Given the description of an element on the screen output the (x, y) to click on. 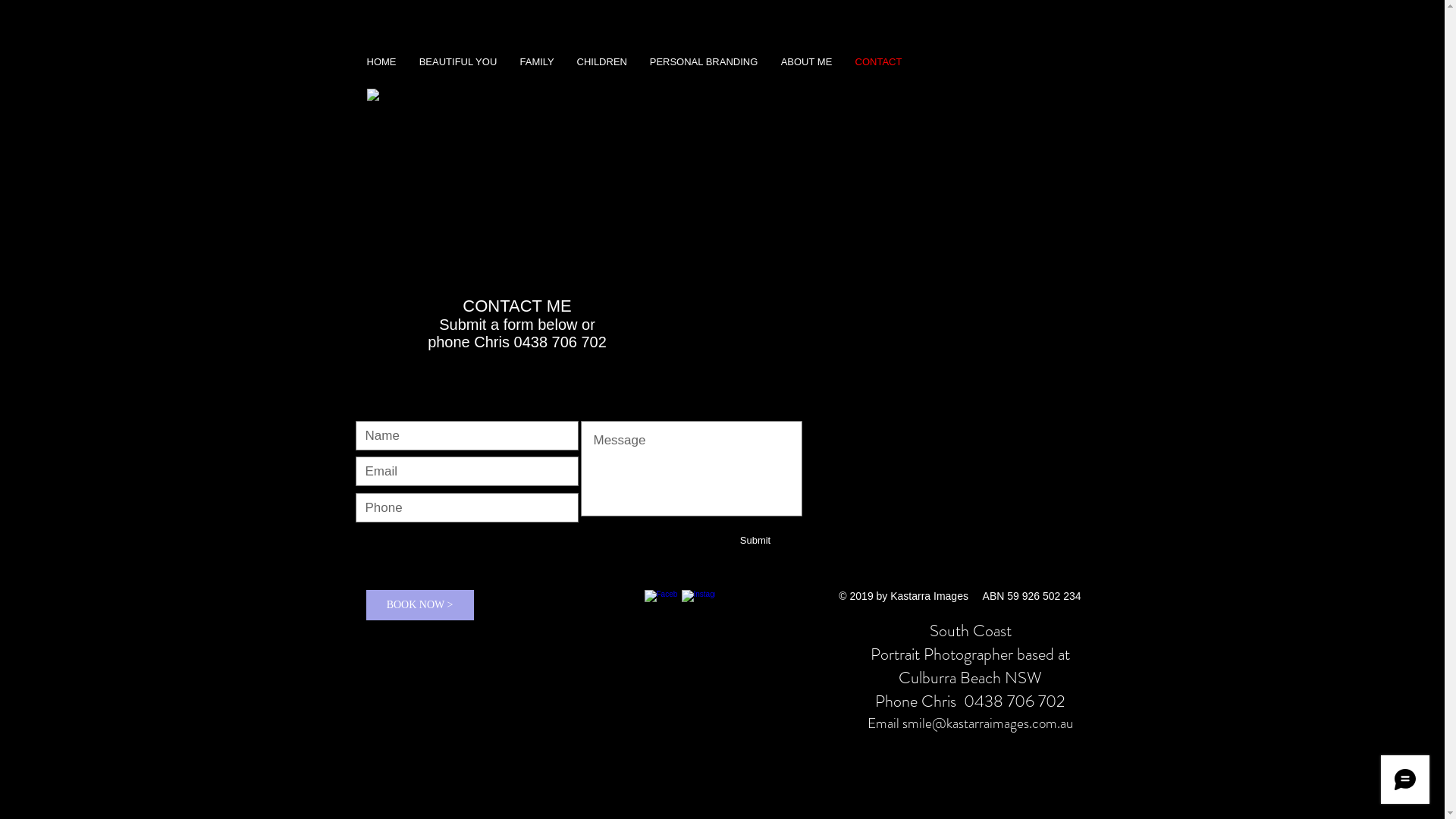
smile@kastarraimages.com.au Element type: text (987, 722)
Submit Element type: text (754, 540)
CHILDREN Element type: text (601, 62)
HOME Element type: text (380, 62)
BEAUTIFUL YOU Element type: text (457, 62)
ABOUT ME Element type: text (805, 62)
BOOK NOW > Element type: text (419, 604)
PERSONAL BRANDING Element type: text (703, 62)
FAMILY Element type: text (536, 62)
CONTACT Element type: text (878, 62)
